Given the description of an element on the screen output the (x, y) to click on. 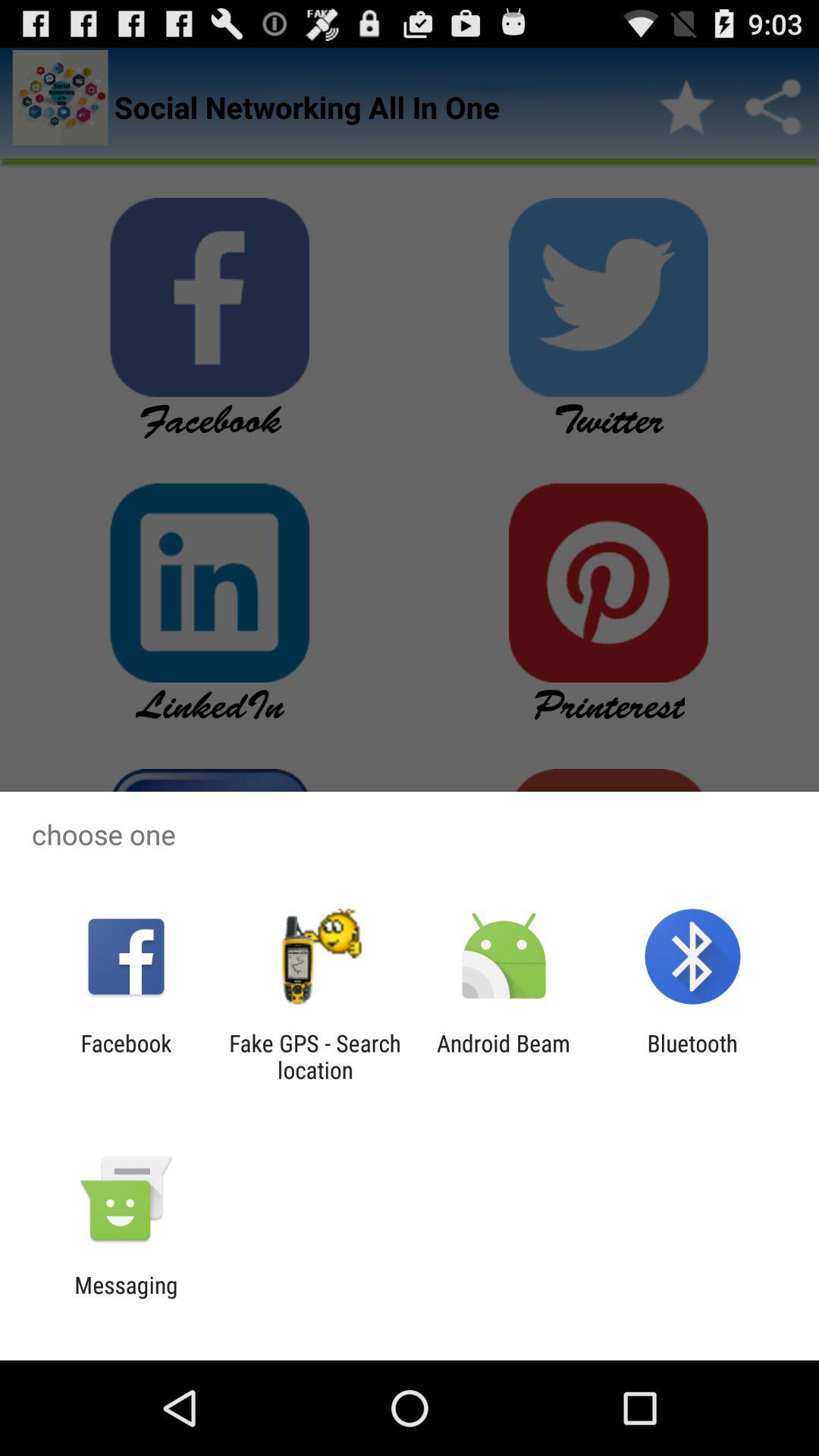
jump until fake gps search item (314, 1056)
